Given the description of an element on the screen output the (x, y) to click on. 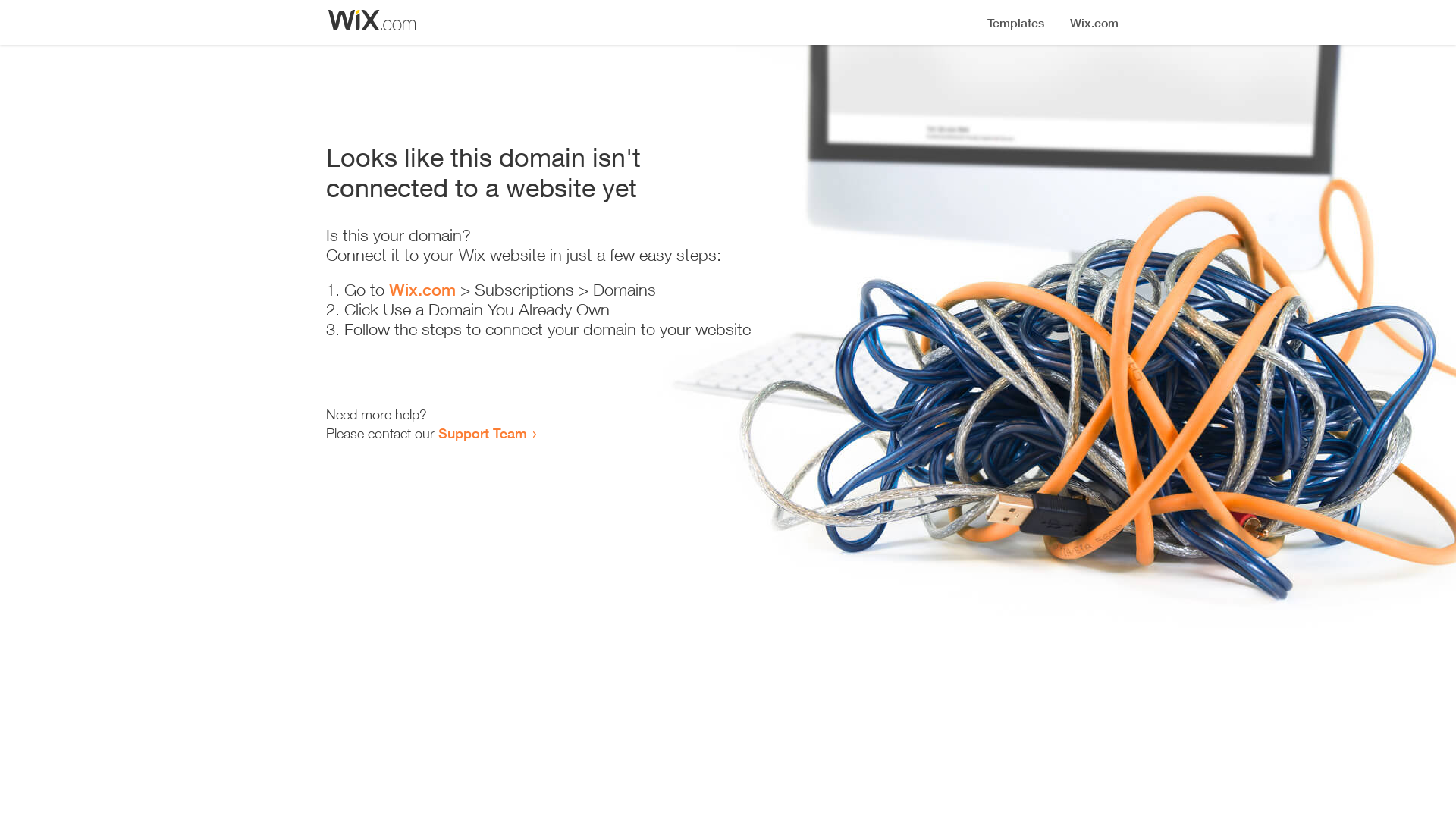
Support Team Element type: text (482, 432)
Wix.com Element type: text (422, 289)
